Given the description of an element on the screen output the (x, y) to click on. 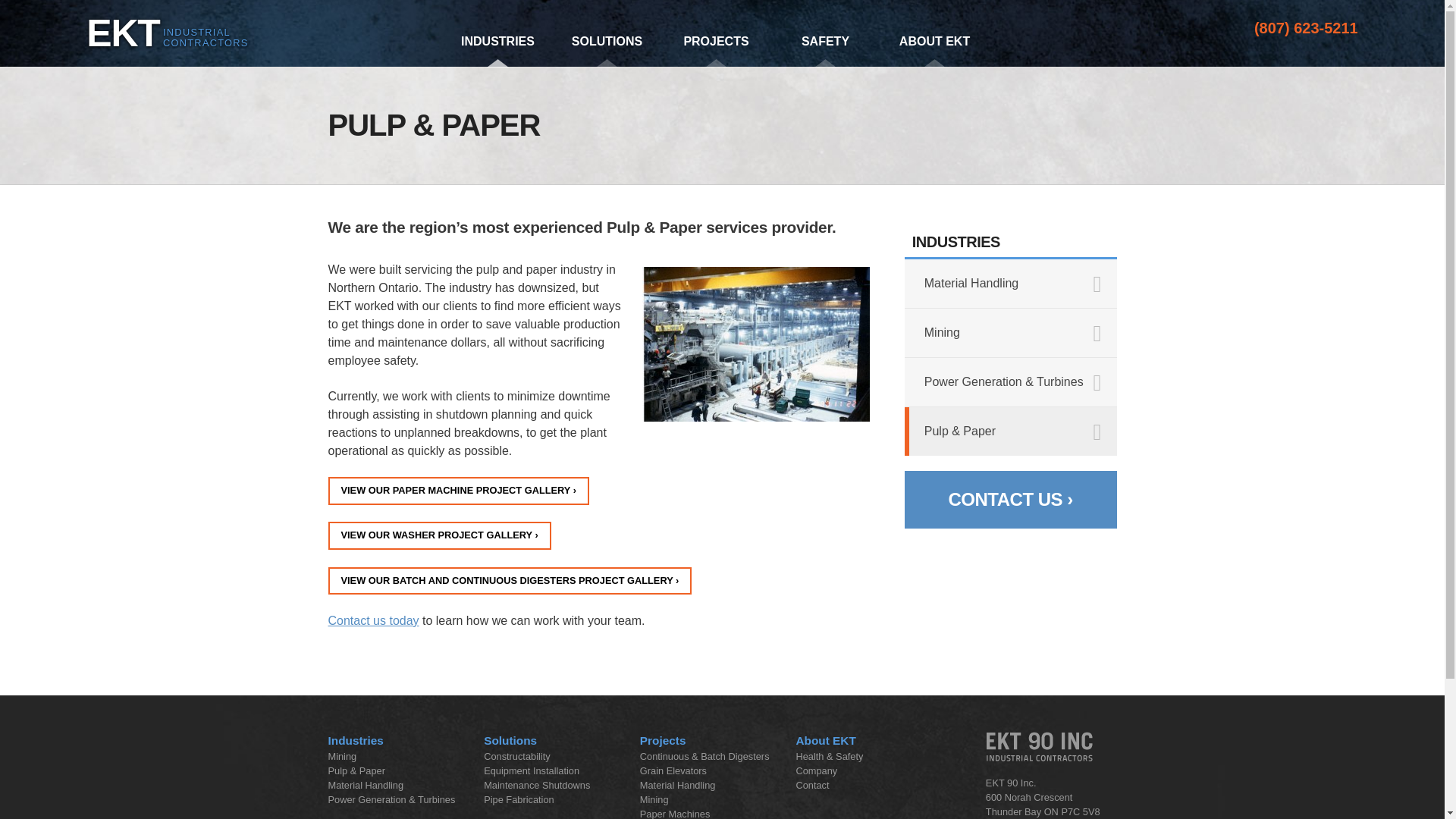
SAFETY (824, 46)
Washers (438, 535)
Industries (354, 739)
Mining (1010, 332)
SOLUTIONS (606, 46)
Paper Machines (457, 490)
Batch Digesters (509, 581)
EKT INDUSTRIAL CONTRACTORS (161, 42)
ABOUT EKT (933, 46)
